Given the description of an element on the screen output the (x, y) to click on. 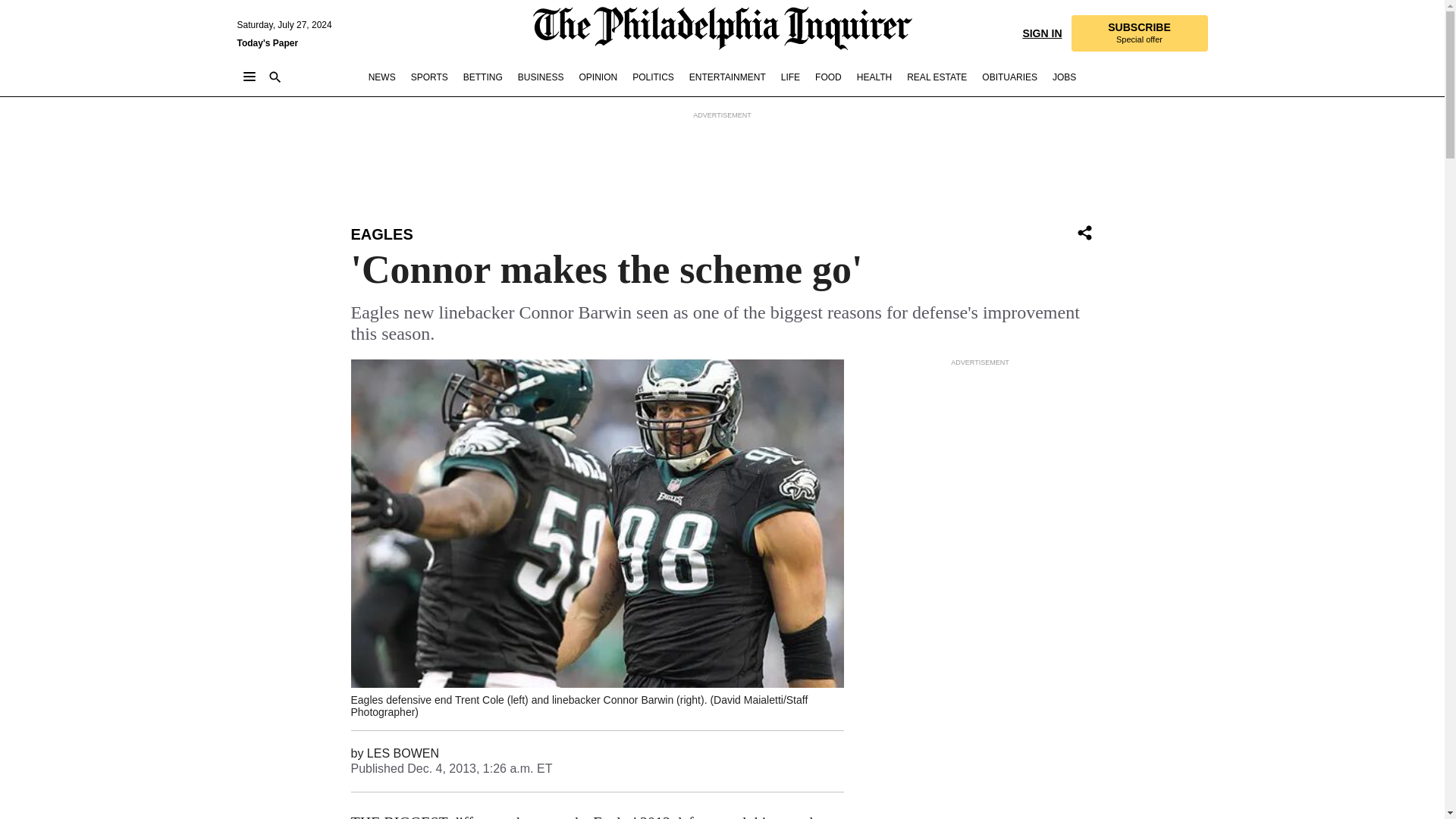
OPINION (597, 77)
SPORTS (429, 77)
HEALTH (874, 77)
EAGLES (381, 234)
ENTERTAINMENT (726, 77)
BUSINESS (541, 77)
NEWS (382, 77)
BETTING (482, 77)
REAL ESTATE (936, 77)
FOOD (828, 77)
SIGN IN (1041, 32)
Share Icon (1084, 233)
JOBS (1063, 77)
Today's Paper (266, 42)
POLITICS (652, 77)
